Given the description of an element on the screen output the (x, y) to click on. 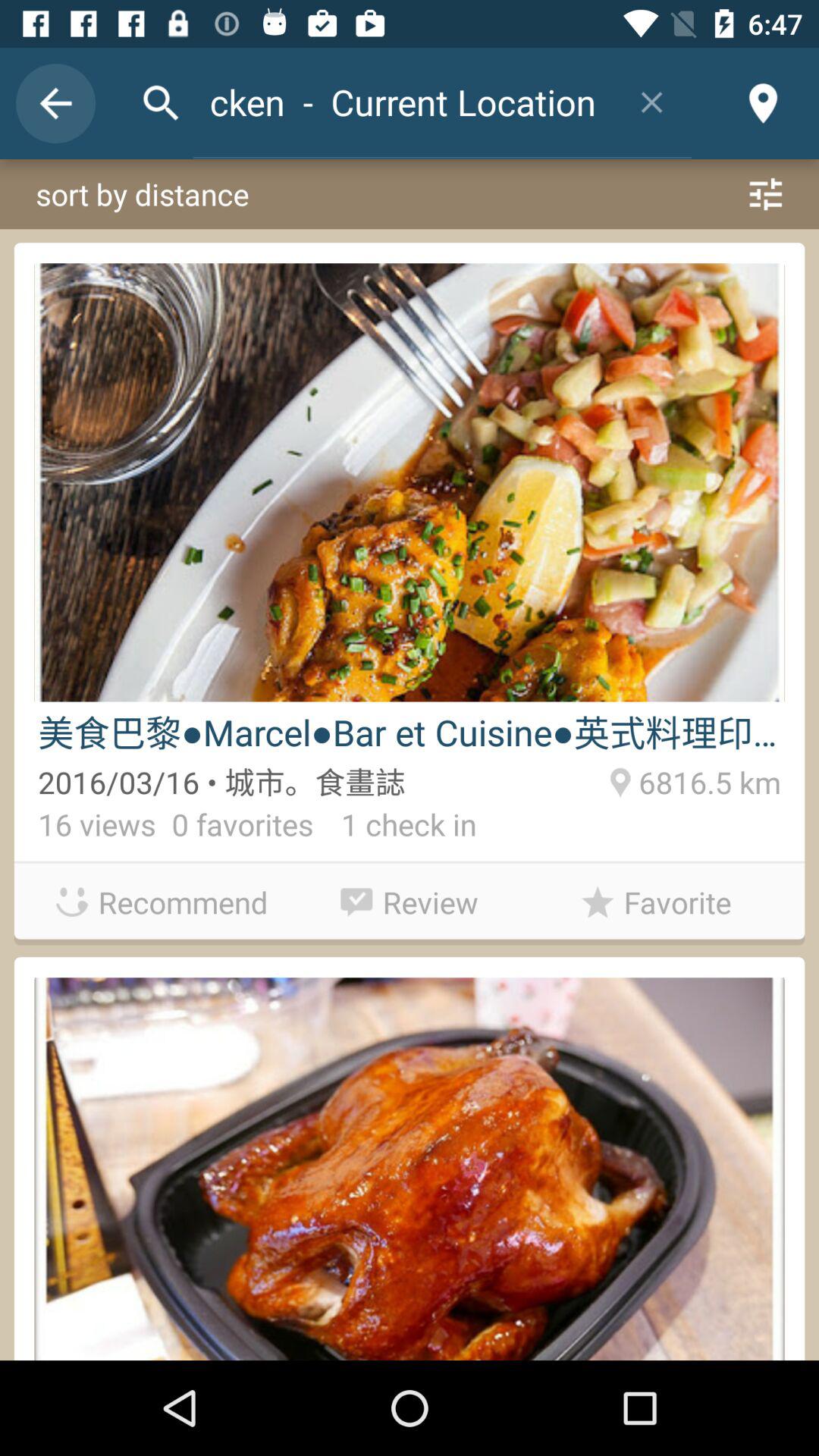
turn on item above sort by distance icon (402, 102)
